Given the description of an element on the screen output the (x, y) to click on. 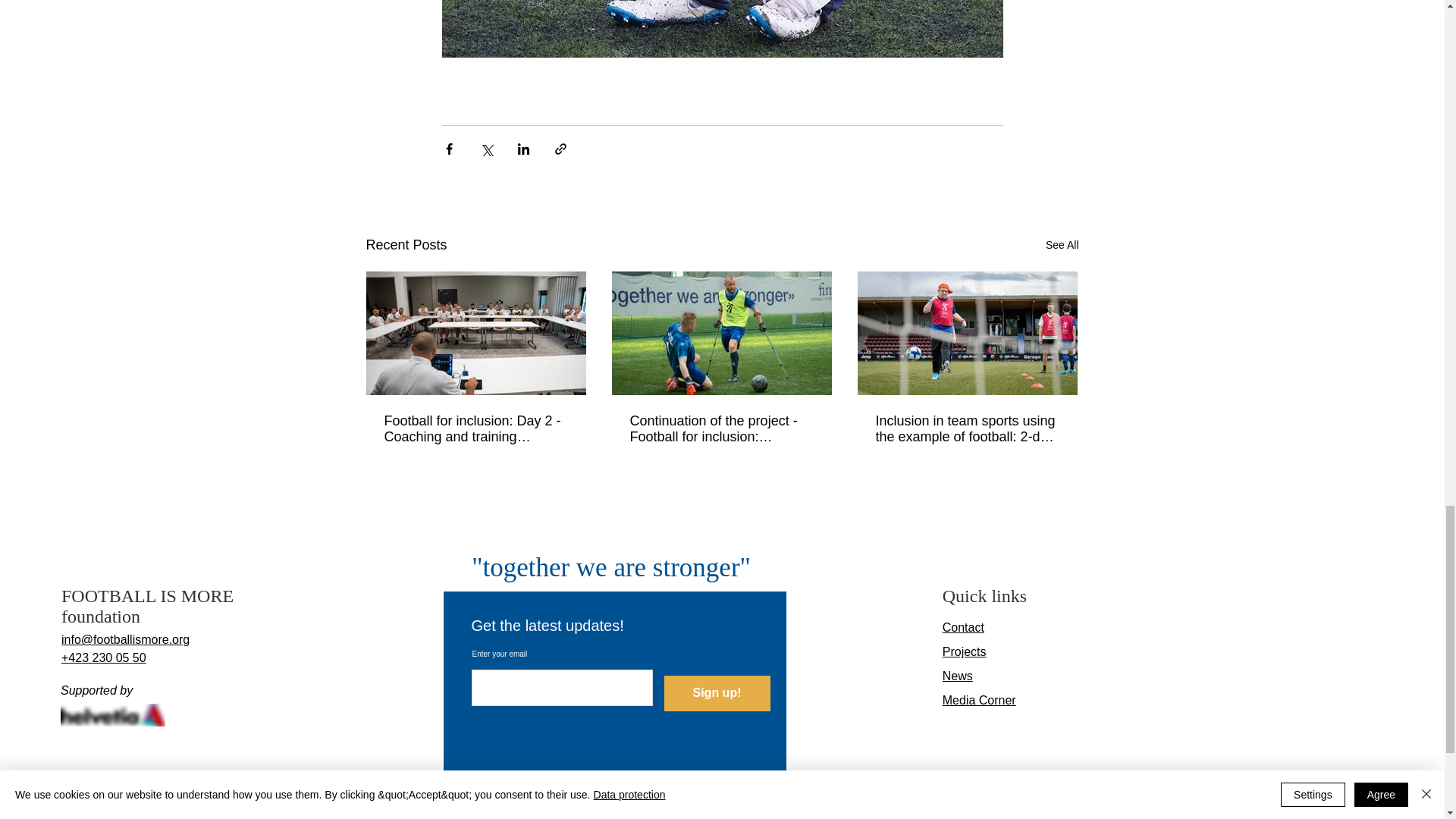
See All (1061, 245)
Contact (963, 626)
Media Corner (979, 699)
News (957, 675)
Sign up! (716, 693)
Projects (964, 651)
